Given the description of an element on the screen output the (x, y) to click on. 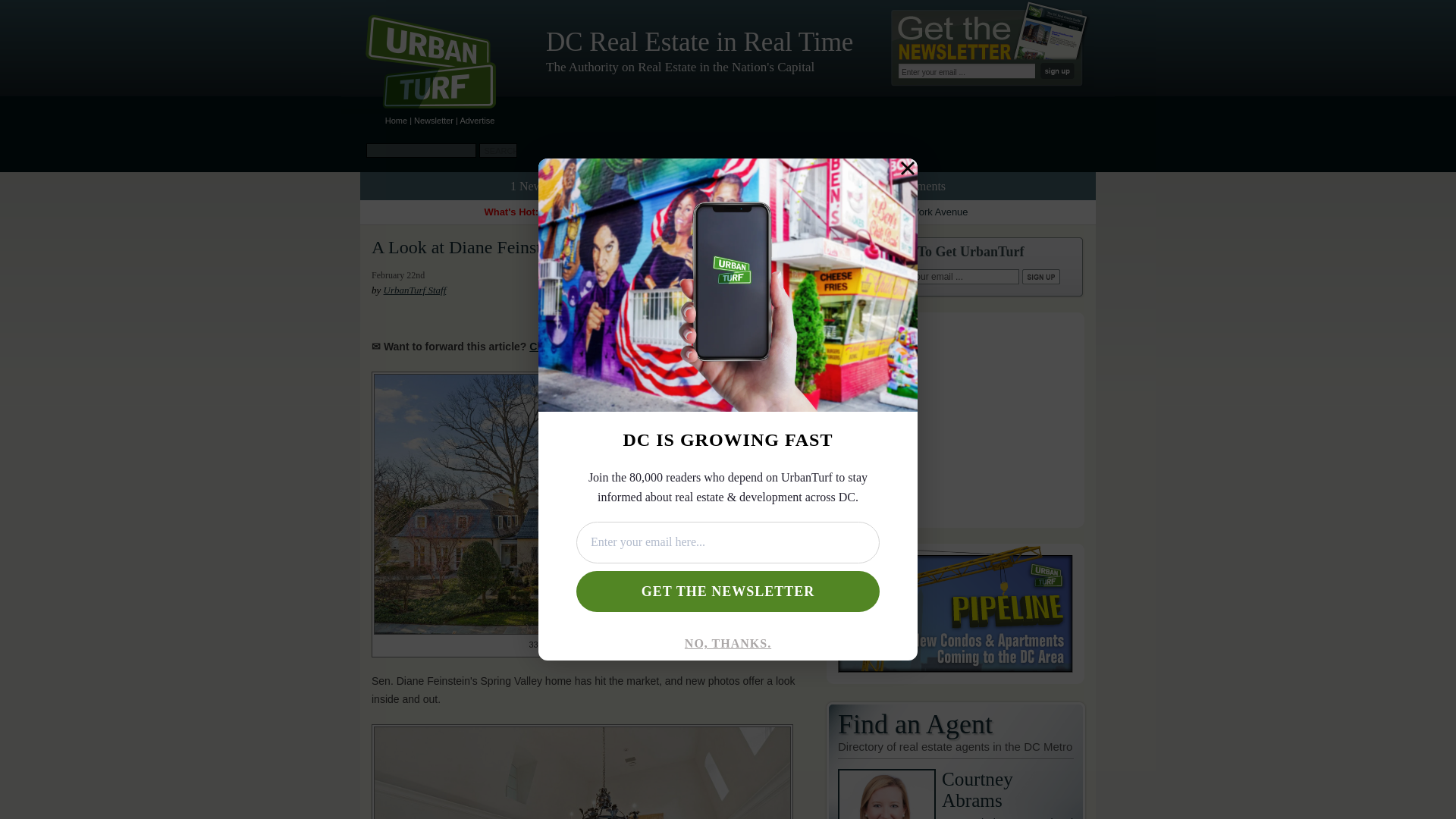
Search (497, 150)
A Look at Diane Feinstein's DC Home (511, 247)
Permalink (511, 247)
Enter your email ... (952, 276)
Neighborhood Profiles (722, 185)
Newsletter (432, 120)
1 New UrbanTurf Listing (1008, 794)
UrbanTurf Staff (572, 185)
UrbanTurf Pipeline (415, 289)
Advertise on UrbanTurf (955, 680)
Advertise (477, 120)
Click here (477, 120)
